Given the description of an element on the screen output the (x, y) to click on. 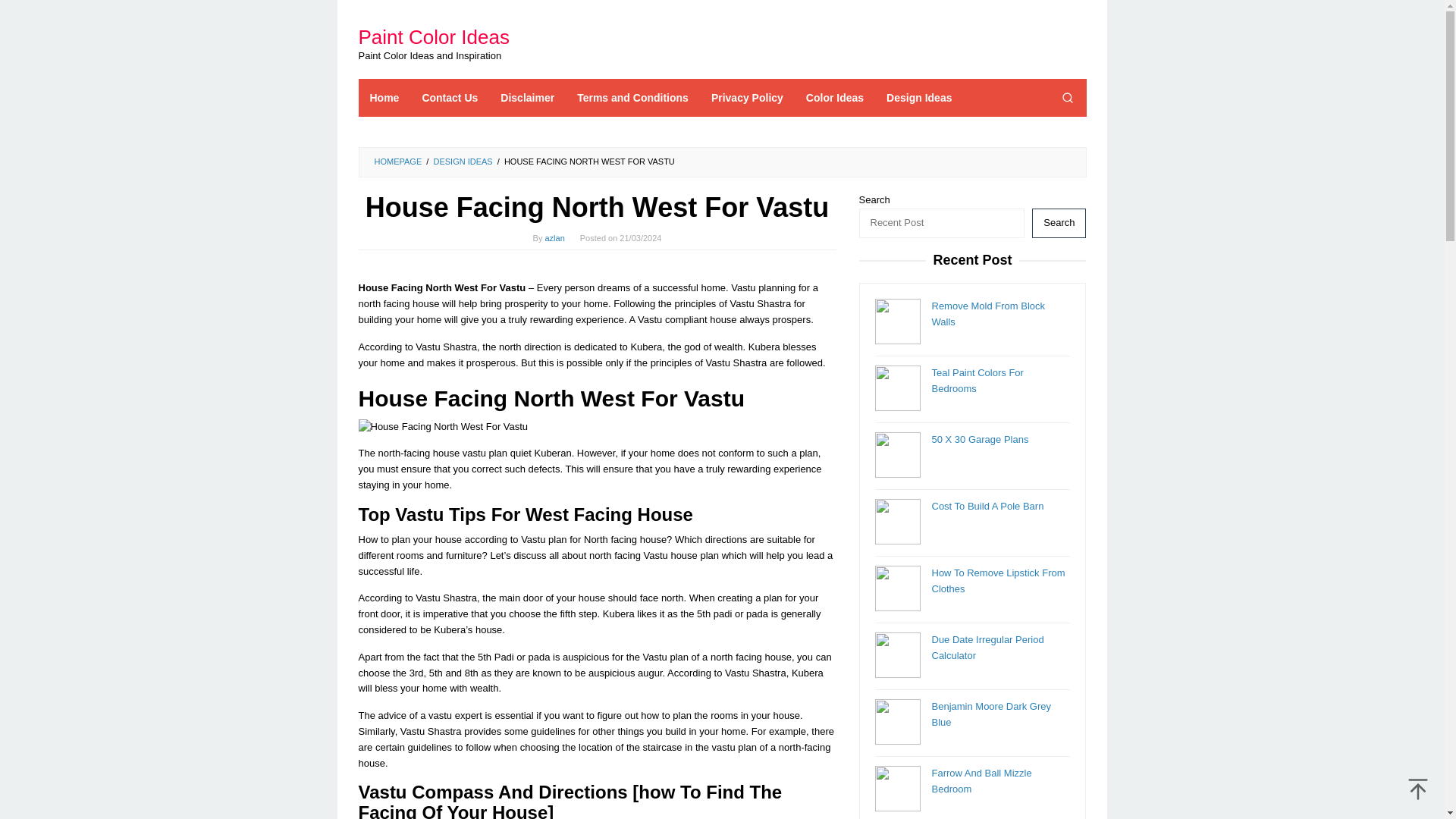
Disclaimer (527, 97)
Search (1059, 223)
Paint Color Ideas (433, 36)
HOMEPAGE (398, 161)
Due Date Irregular Period Calculator (987, 646)
Teal Paint Colors For Bedrooms (977, 379)
Search (1067, 97)
Paint Color Ideas (433, 36)
Color Ideas (834, 97)
Contact Us (449, 97)
Benjamin Moore Dark Grey Blue (991, 714)
Privacy Policy (747, 97)
Farrow And Ball Mizzle Bedroom (980, 780)
Design Ideas (918, 97)
House Facing North West For Vastu (442, 426)
